Given the description of an element on the screen output the (x, y) to click on. 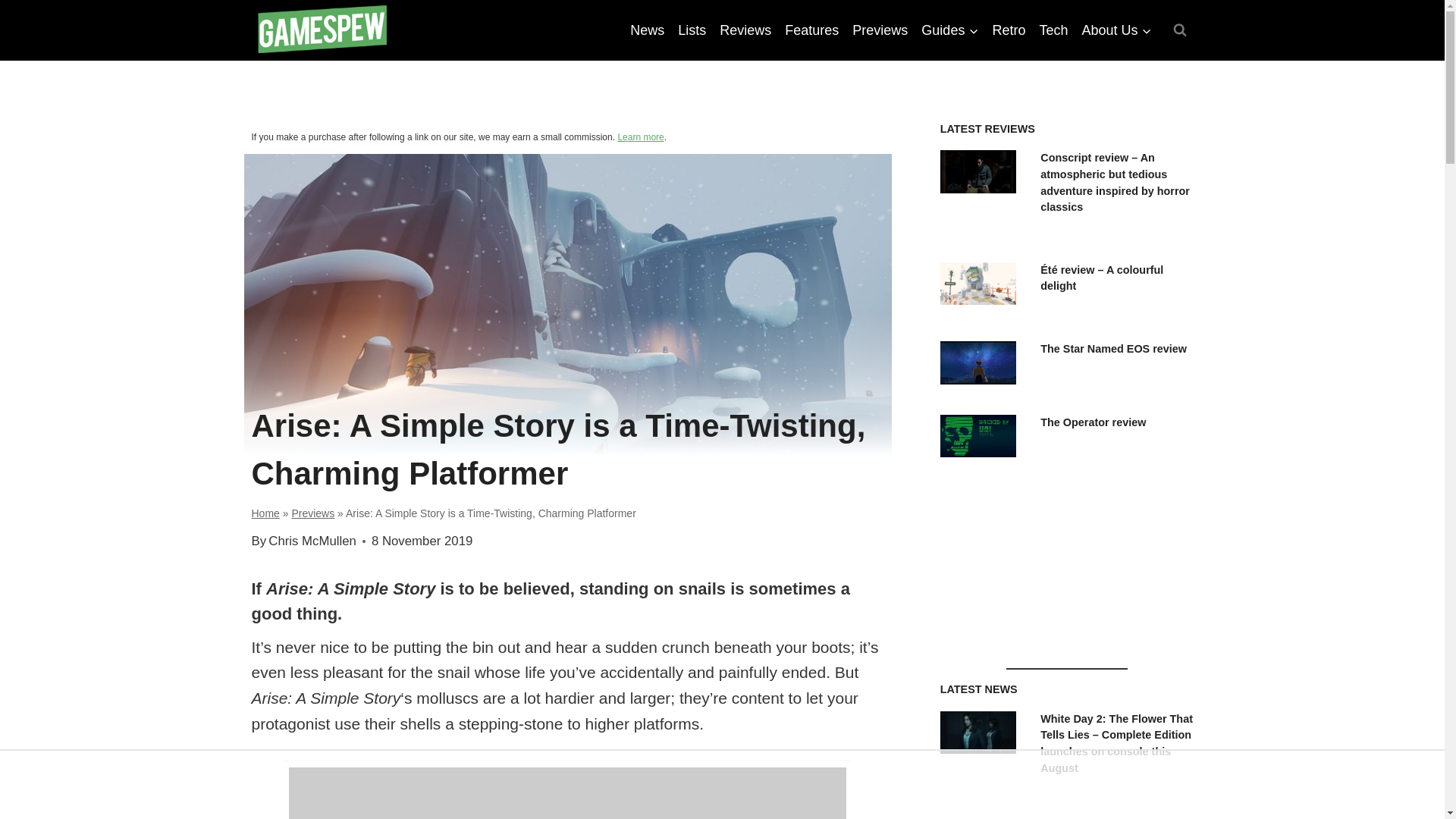
Guides (949, 30)
News (647, 30)
Features (811, 30)
Previews (879, 30)
Previews (312, 512)
Tech (1053, 30)
Chris McMullen (311, 540)
Lists (692, 30)
Learn more (640, 136)
Reviews (745, 30)
Retro (1008, 30)
About Us (1115, 30)
Home (265, 512)
